Given the description of an element on the screen output the (x, y) to click on. 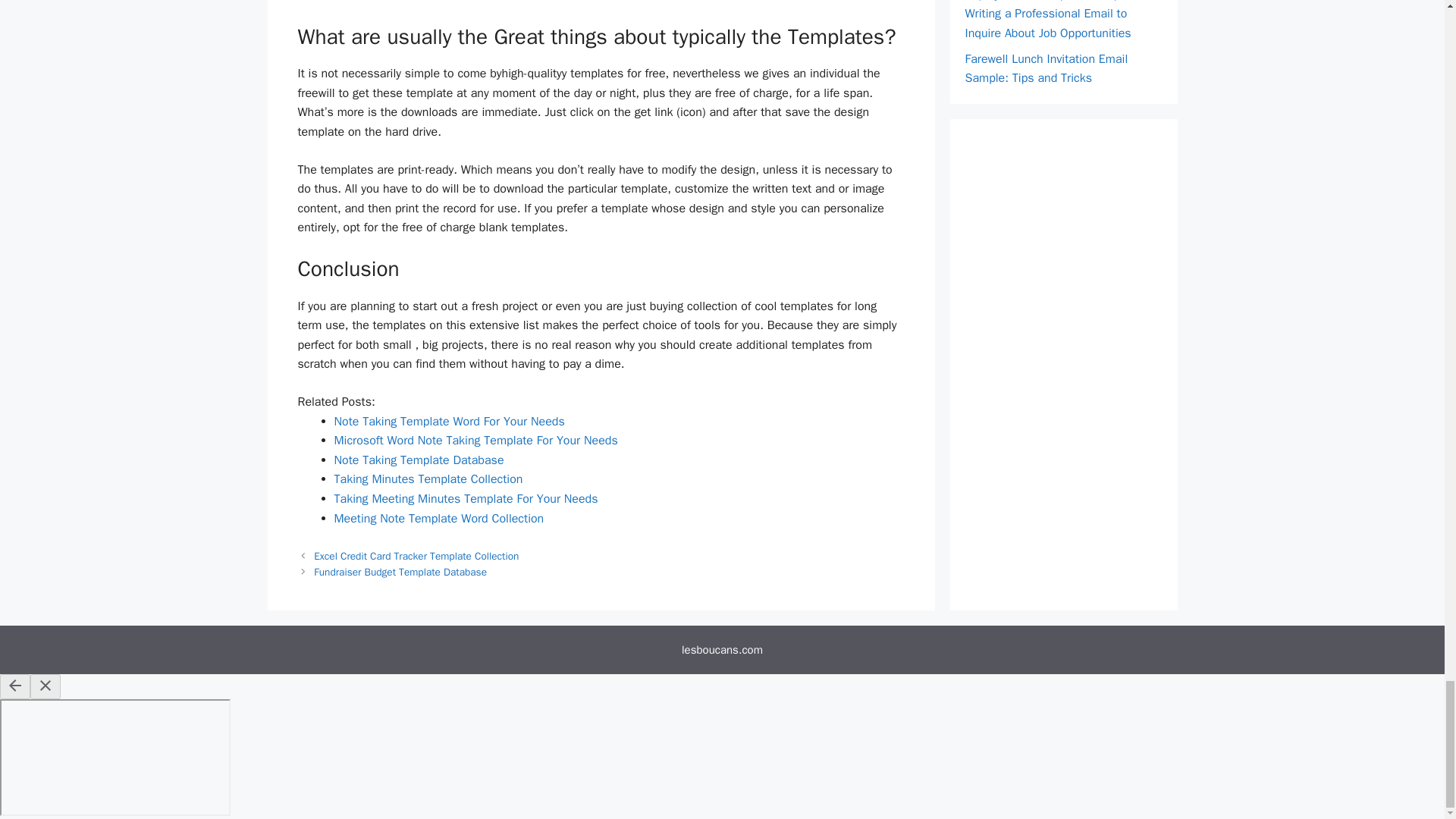
Taking Minutes Template Collection (427, 478)
Excel Credit Card Tracker Template Collection (416, 555)
Microsoft Word Note Taking Template For Your Needs (475, 440)
Meeting Note Template Word Collection (438, 518)
Taking Meeting Minutes Template For Your Needs (464, 498)
Fundraiser Budget Template Database (400, 571)
Note Taking Template Word For Your Needs (448, 421)
Note Taking Template Database (418, 459)
